Given the description of an element on the screen output the (x, y) to click on. 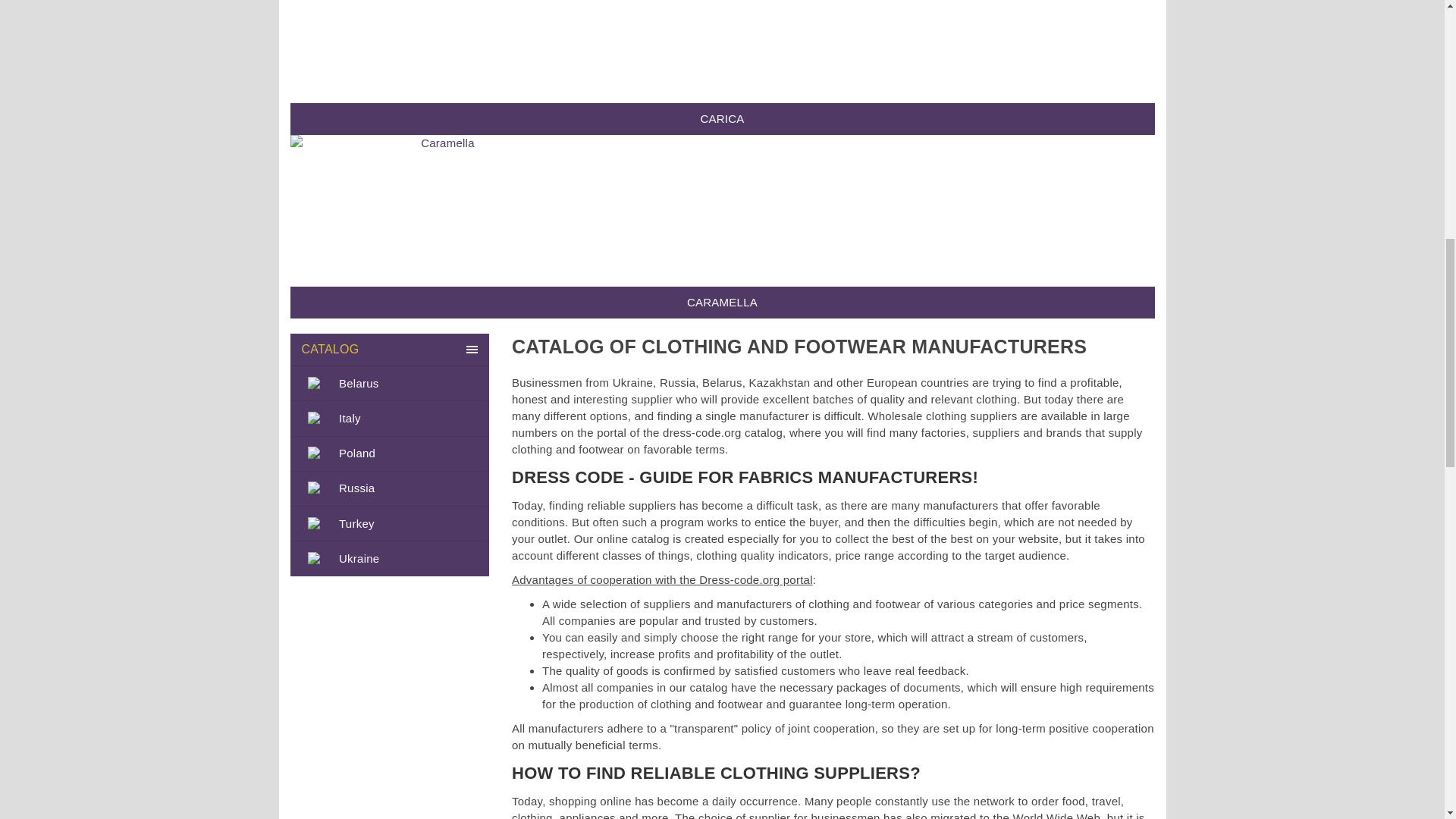
CARICA (440, 51)
Italy (389, 417)
Belarus (389, 383)
Poland (389, 453)
CARICA (721, 119)
Caramella (440, 210)
Russia (389, 488)
Ukraine (389, 558)
Turkey (389, 523)
CARAMELLA (721, 302)
